Given the description of an element on the screen output the (x, y) to click on. 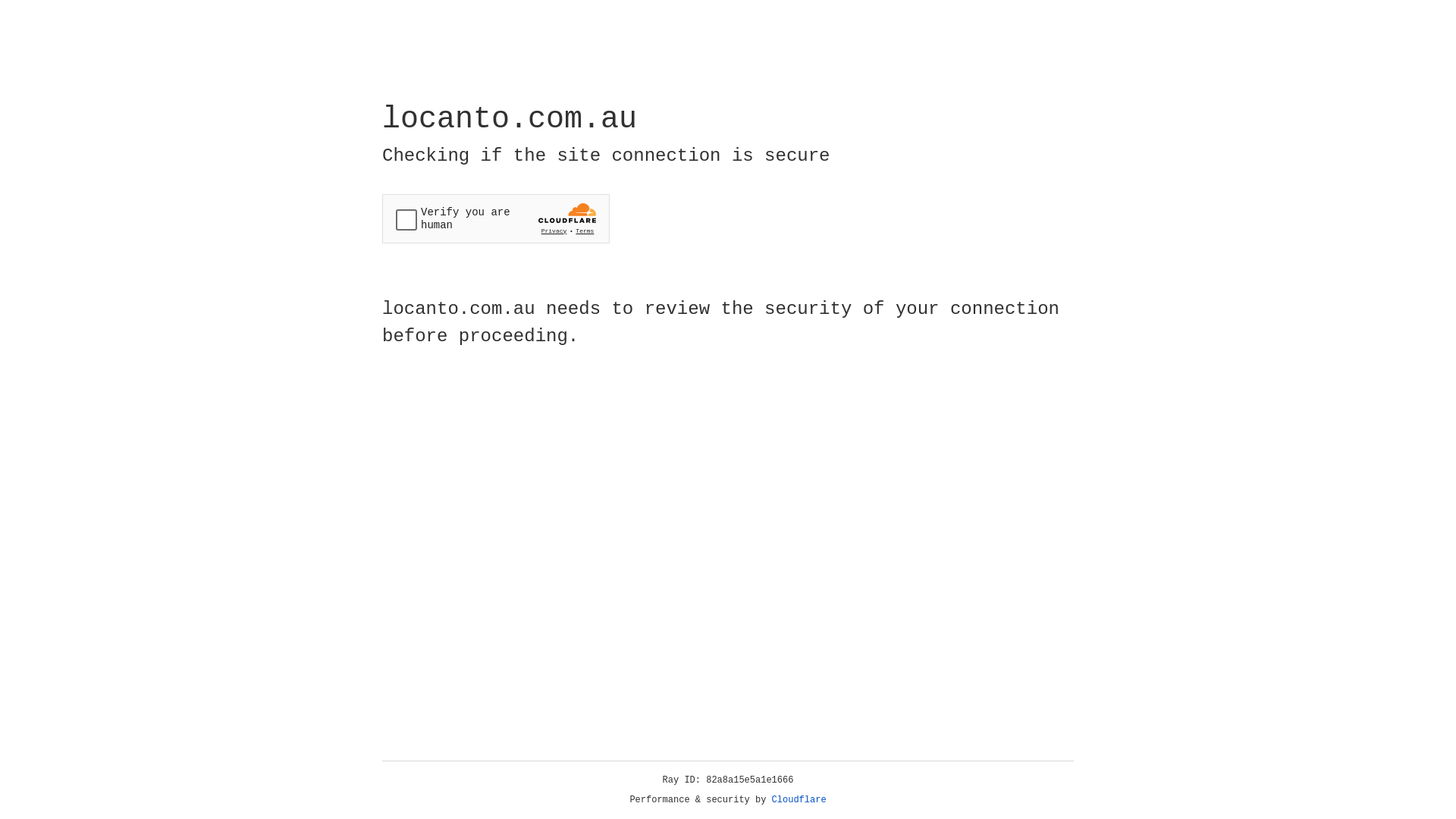
Cloudflare Element type: text (798, 799)
Widget containing a Cloudflare security challenge Element type: hover (495, 218)
